Given the description of an element on the screen output the (x, y) to click on. 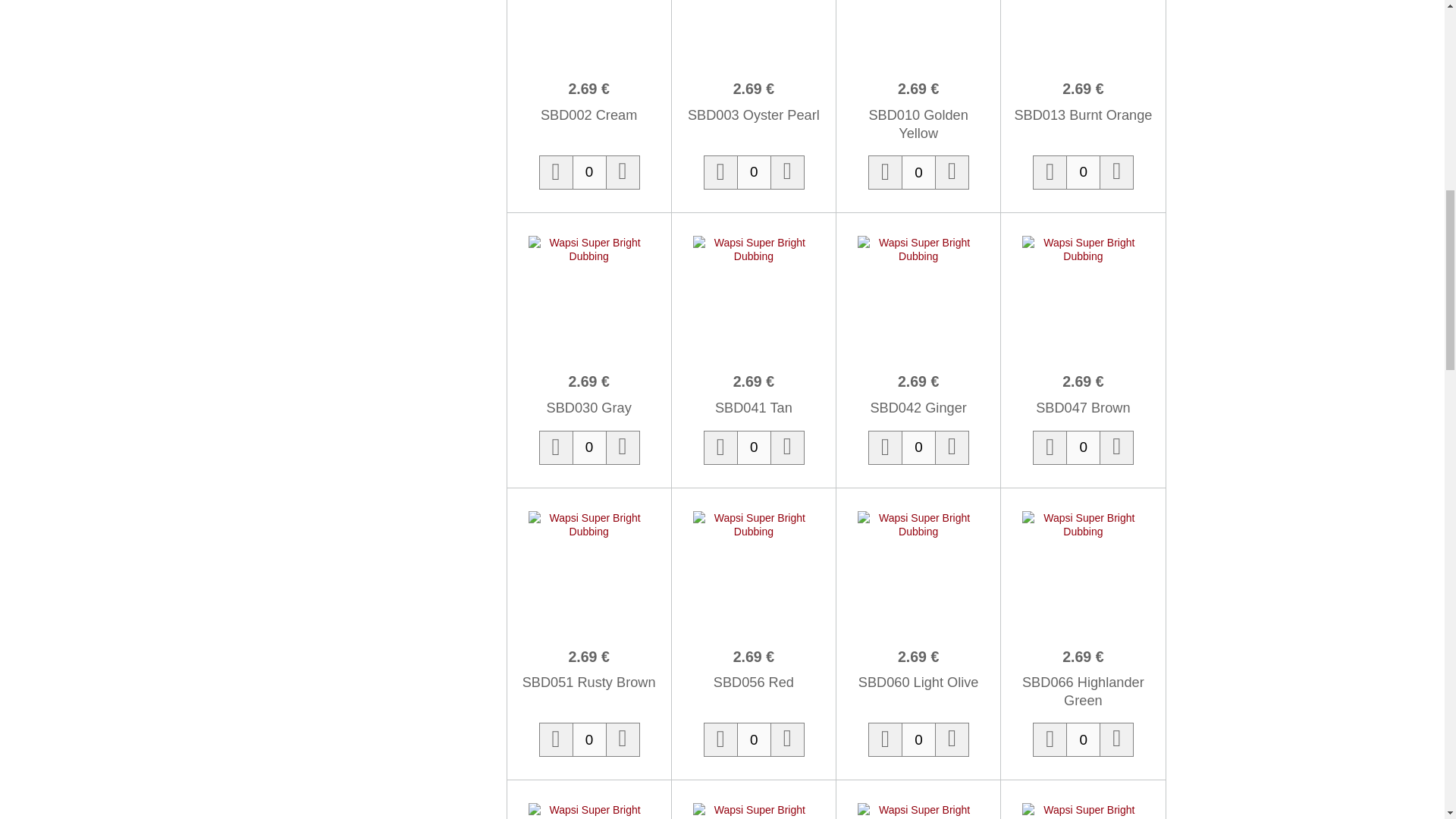
0 (1082, 447)
0 (589, 172)
0 (753, 739)
0 (1082, 739)
0 (753, 447)
0 (589, 447)
0 (918, 739)
0 (753, 172)
0 (918, 172)
0 (589, 739)
0 (918, 447)
0 (1082, 172)
